Given the description of an element on the screen output the (x, y) to click on. 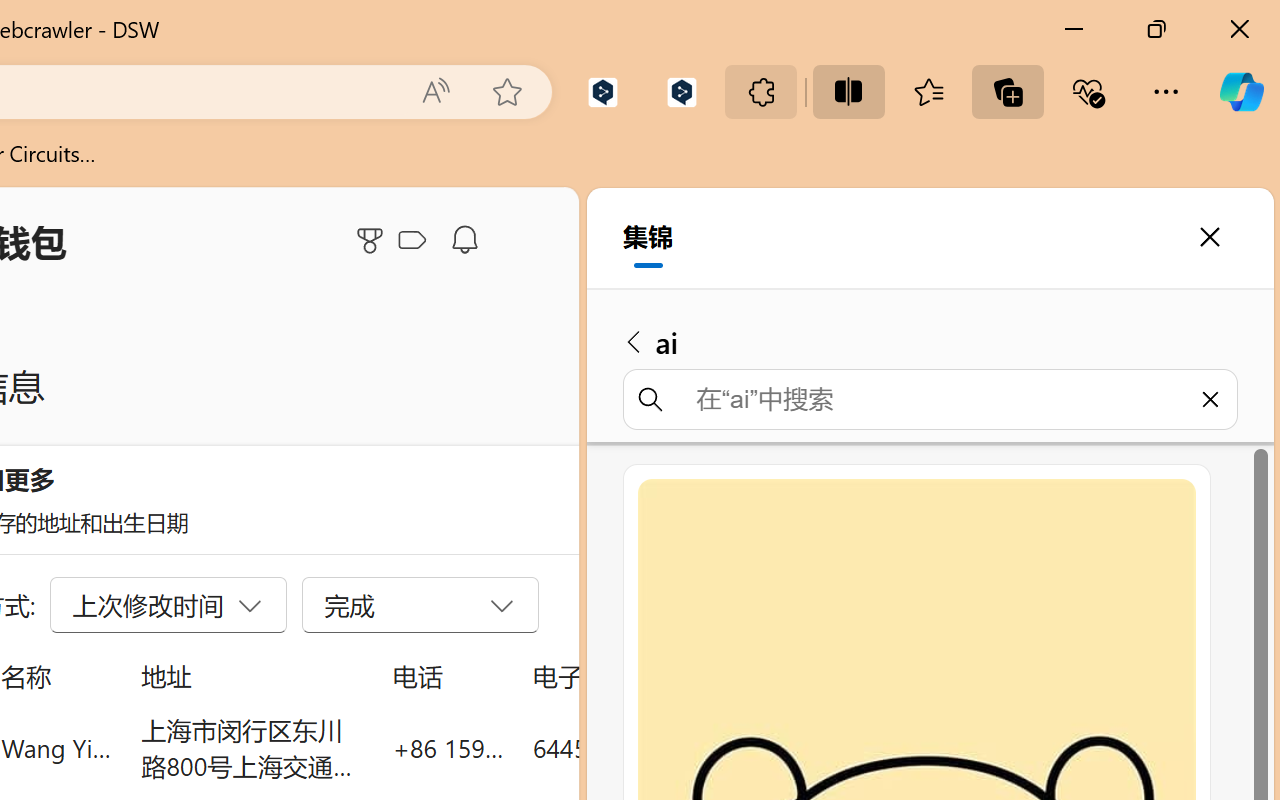
+86 159 0032 4640 (447, 747)
Microsoft Cashback (415, 241)
644553698@qq.com (644, 747)
Microsoft Rewards (373, 240)
